Given the description of an element on the screen output the (x, y) to click on. 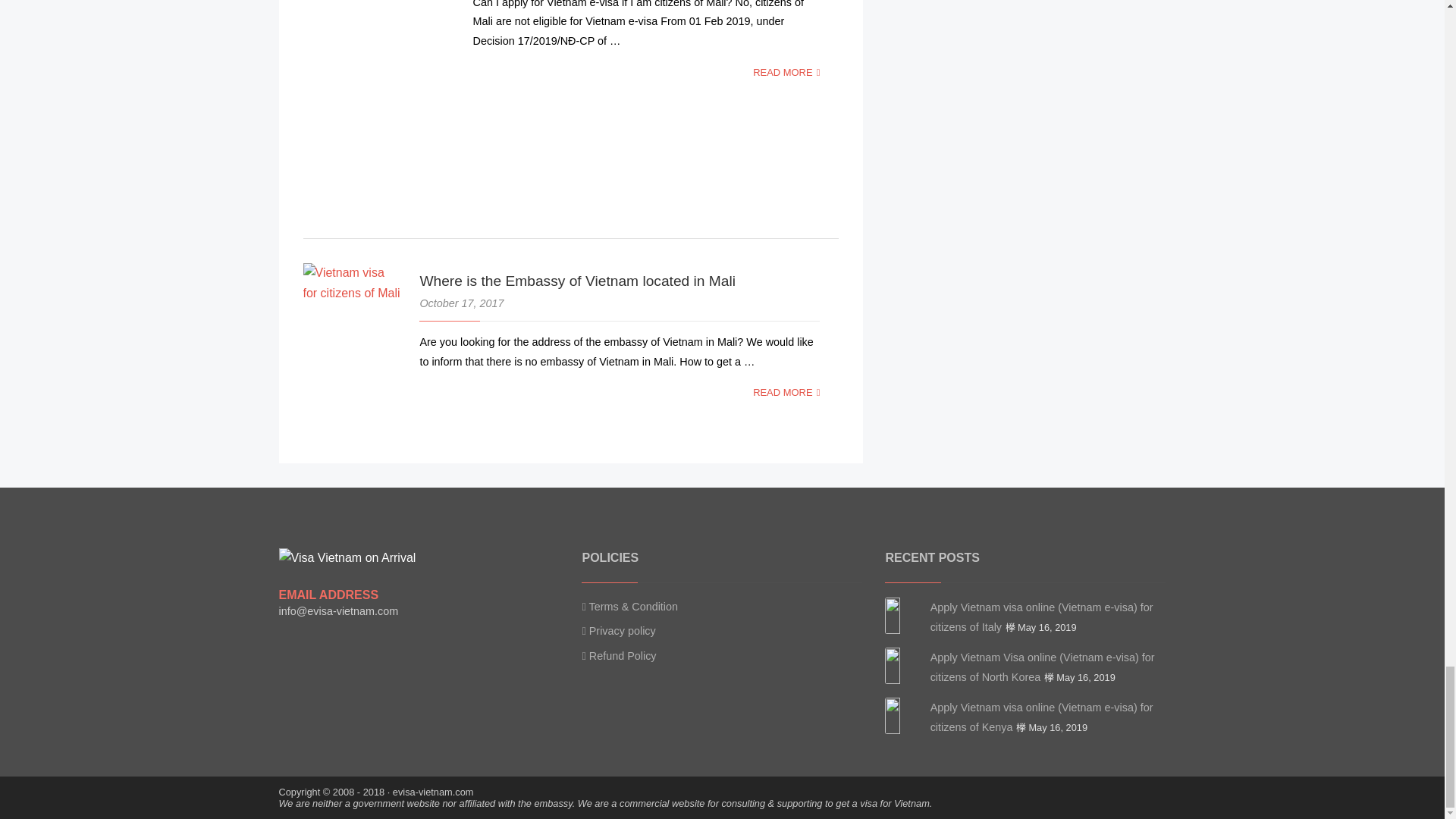
READ MORE (785, 392)
Refund Policy (618, 656)
READ MORE (785, 71)
Privacy policy (617, 631)
Where is the Embassy of Vietnam located in Mali (577, 280)
